Given the description of an element on the screen output the (x, y) to click on. 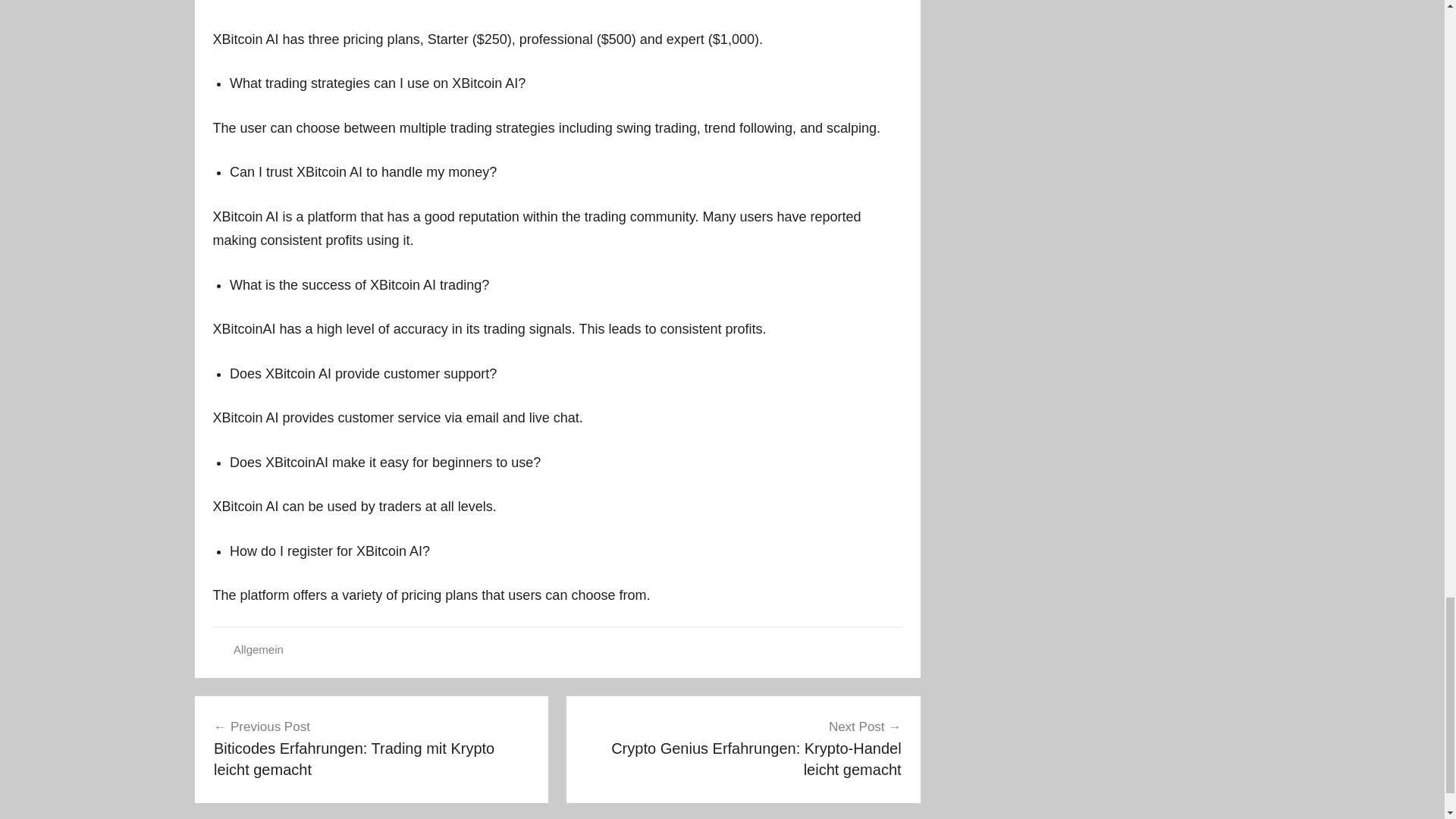
Allgemein (257, 649)
